Given the description of an element on the screen output the (x, y) to click on. 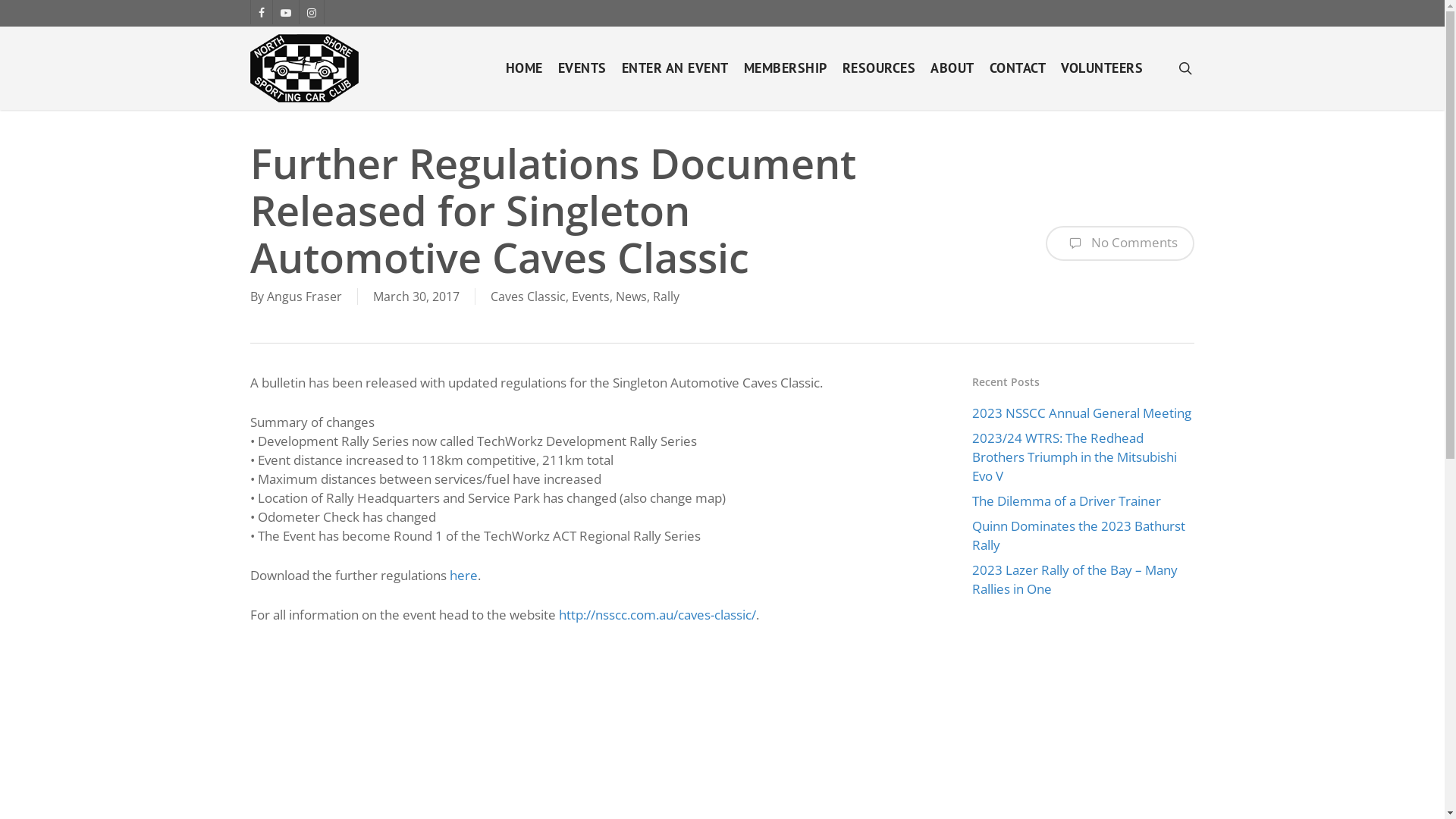
VOLUNTEERS Element type: text (1101, 68)
Caves Classic Element type: text (527, 296)
Angus Fraser Element type: text (304, 296)
News Element type: text (630, 296)
http://nsscc.com.au/caves-classic/ Element type: text (657, 614)
here Element type: text (463, 574)
No Comments Element type: text (1119, 242)
2023 NSSCC Annual General Meeting Element type: text (1083, 412)
Quinn Dominates the 2023 Bathurst Rally Element type: text (1083, 535)
MEMBERSHIP Element type: text (784, 68)
instagram Element type: text (310, 12)
CONTACT Element type: text (1017, 68)
youtube Element type: text (285, 12)
ABOUT Element type: text (952, 68)
EVENTS Element type: text (582, 68)
Rally Element type: text (665, 296)
HOME Element type: text (523, 68)
RESOURCES Element type: text (878, 68)
ENTER AN EVENT Element type: text (675, 68)
Events Element type: text (590, 296)
facebook Element type: text (261, 12)
search Element type: text (1185, 67)
The Dilemma of a Driver Trainer Element type: text (1083, 500)
